Given the description of an element on the screen output the (x, y) to click on. 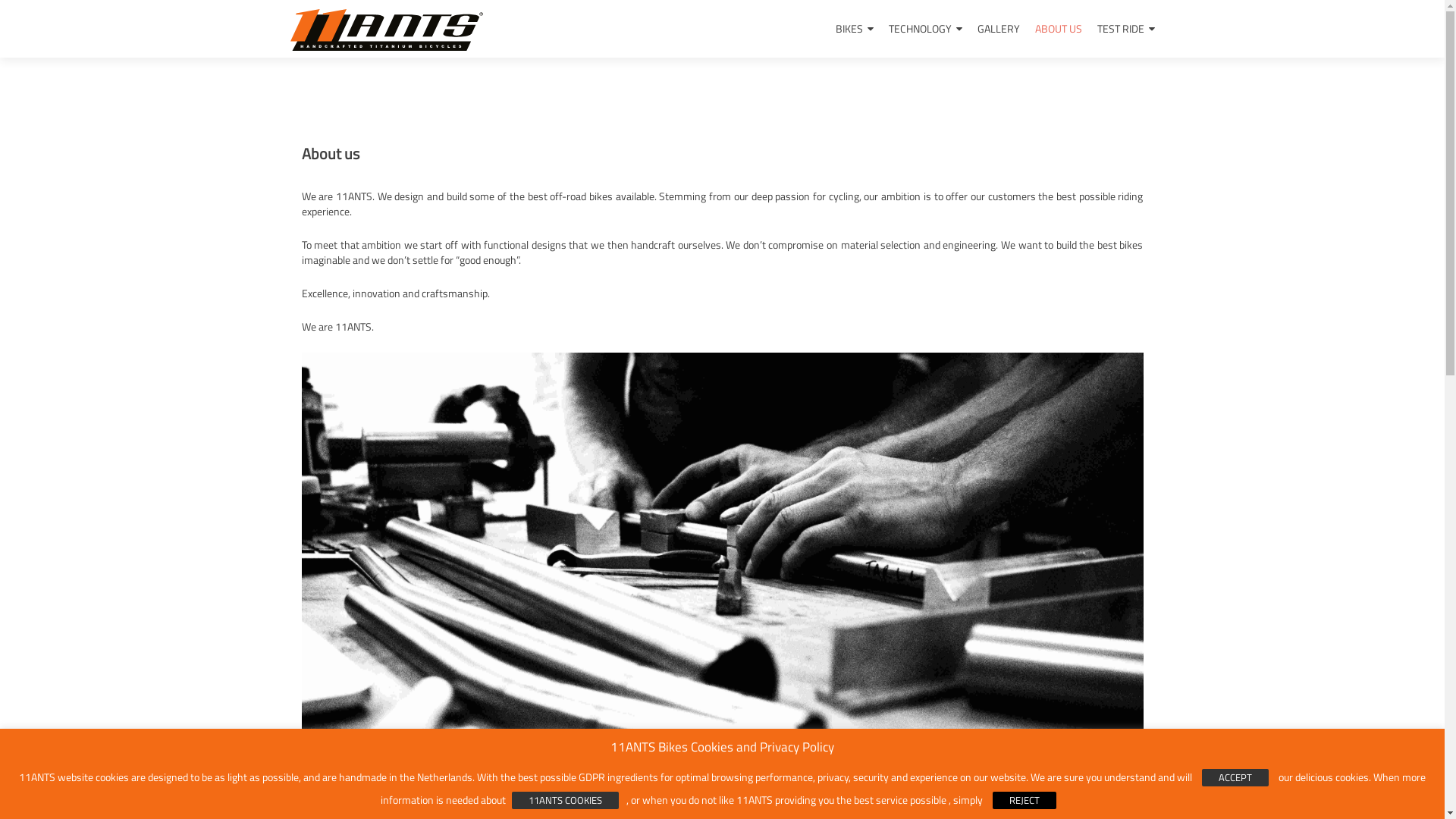
TEST RIDE Element type: text (1125, 28)
ABOUT US Element type: text (1057, 28)
GALLERY Element type: text (997, 28)
BIKES Element type: text (854, 28)
ACCEPT Element type: text (1234, 777)
TECHNOLOGY Element type: text (925, 28)
11ANTS COOKIES Element type: text (564, 800)
REJECT Element type: text (1024, 800)
